Given the description of an element on the screen output the (x, y) to click on. 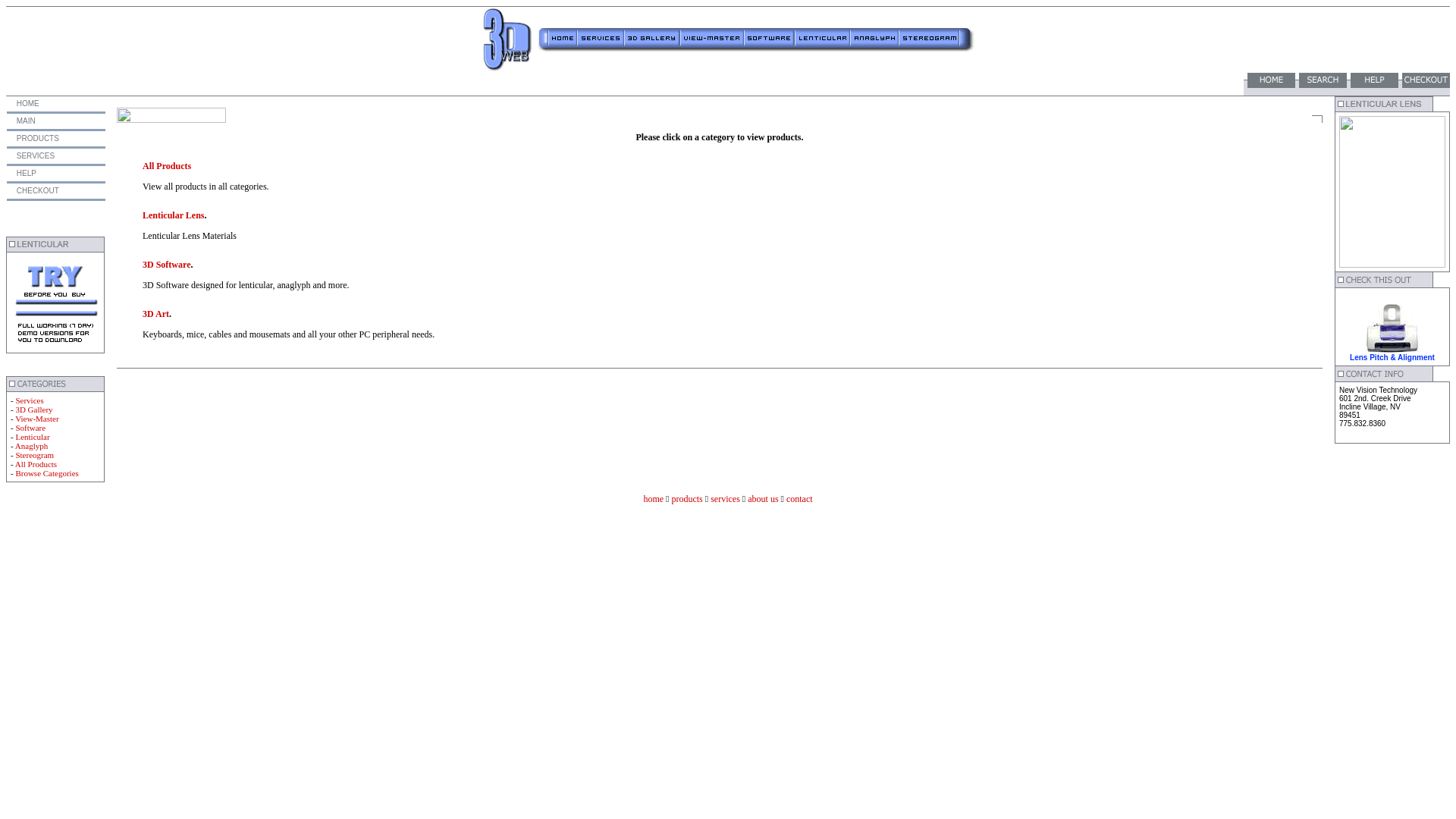
All Products Element type: text (35, 463)
Software Element type: text (30, 427)
All Products Element type: text (166, 165)
3D Gallery Element type: text (33, 409)
Lenticular Lens Element type: text (172, 215)
home Element type: text (653, 498)
CHECKOUT Element type: text (36, 190)
PRODUCTS Element type: text (36, 138)
Lenticular Element type: text (32, 436)
HELP Element type: text (25, 173)
Anaglyph Element type: text (31, 445)
services Element type: text (725, 498)
3D Software Element type: text (166, 264)
Lens Pitch & Alignment Element type: text (1391, 357)
View-Master Element type: text (36, 418)
contact Element type: text (799, 498)
Services Element type: text (29, 399)
SERVICES Element type: text (34, 155)
Stereogram Element type: text (34, 454)
MAIN Element type: text (24, 120)
about us Element type: text (762, 498)
products Element type: text (686, 498)
3D Art Element type: text (155, 313)
HOME Element type: text (26, 103)
Browse Categories Element type: text (46, 472)
